Given the description of an element on the screen output the (x, y) to click on. 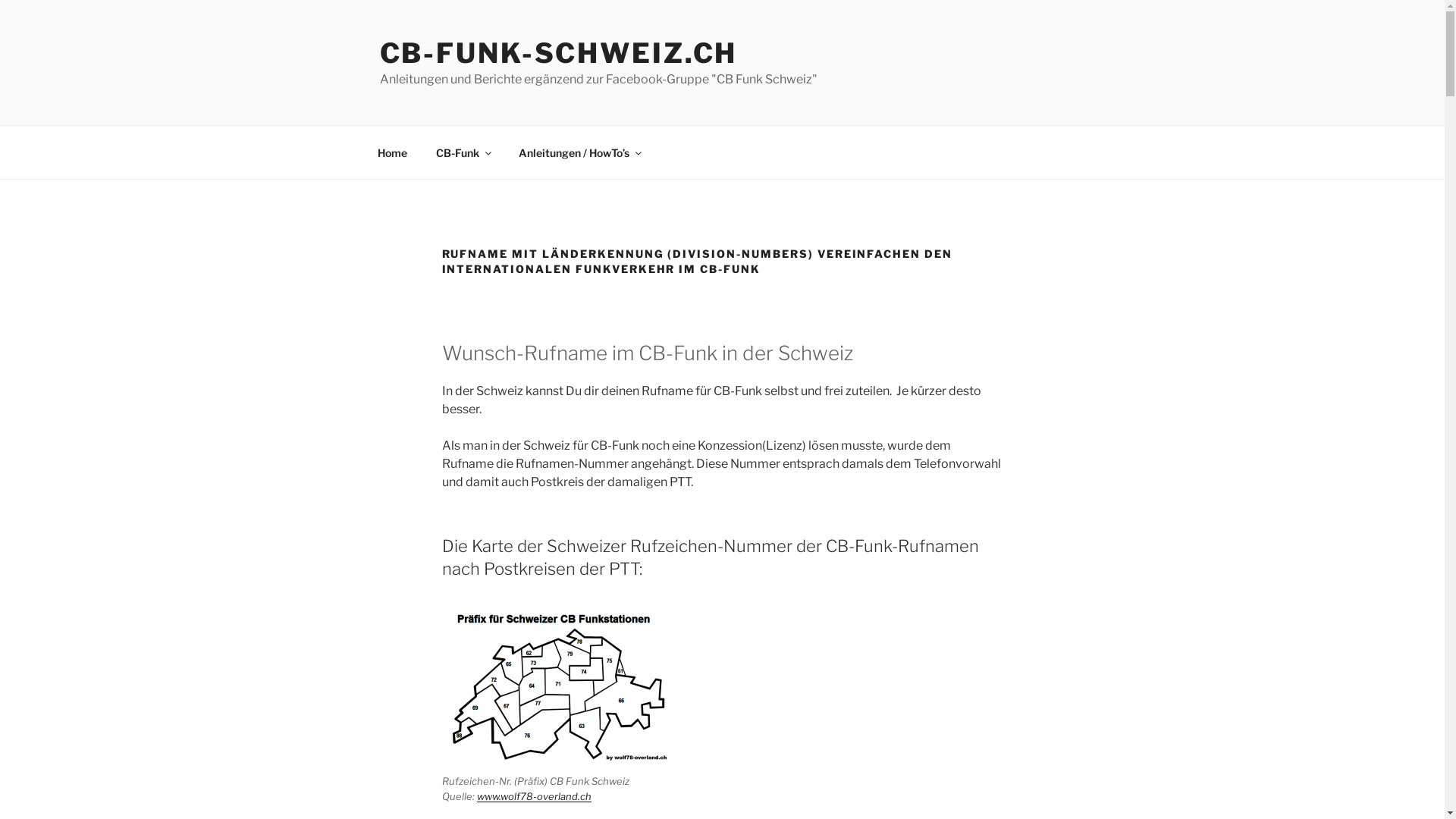
Zum Inhalt springen Element type: text (0, 0)
CB-Funk Element type: text (463, 151)
CB-FUNK-SCHWEIZ.CH Element type: text (558, 52)
Home Element type: text (392, 151)
www.wolf78-overland.ch Element type: text (533, 796)
